Given the description of an element on the screen output the (x, y) to click on. 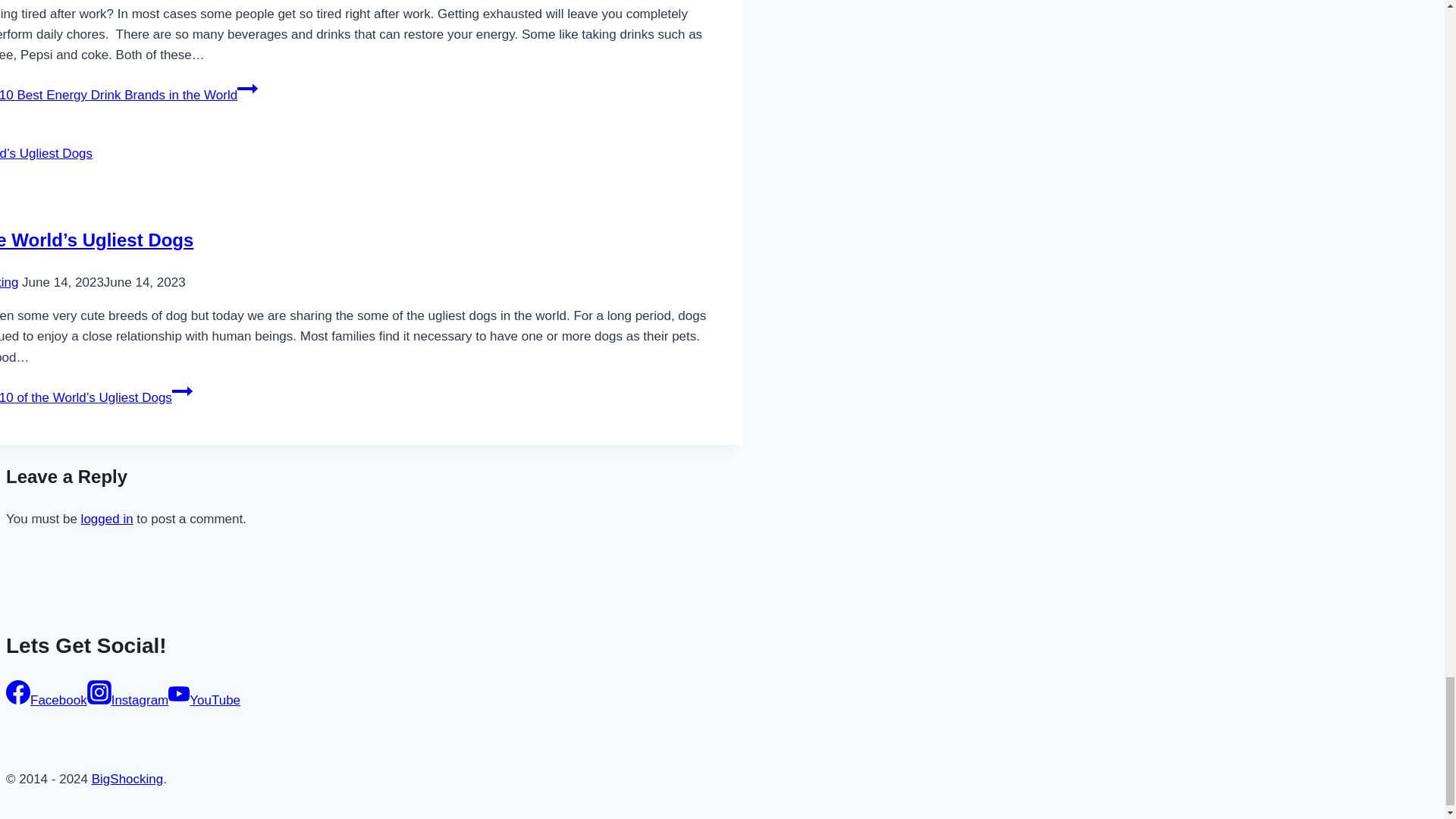
Continue (247, 88)
YouTube (178, 693)
Read More 10 Best Energy Drink Brands in the WorldContinue (128, 94)
Instagram (99, 692)
Facebook (17, 692)
Continue (181, 391)
